Given the description of an element on the screen output the (x, y) to click on. 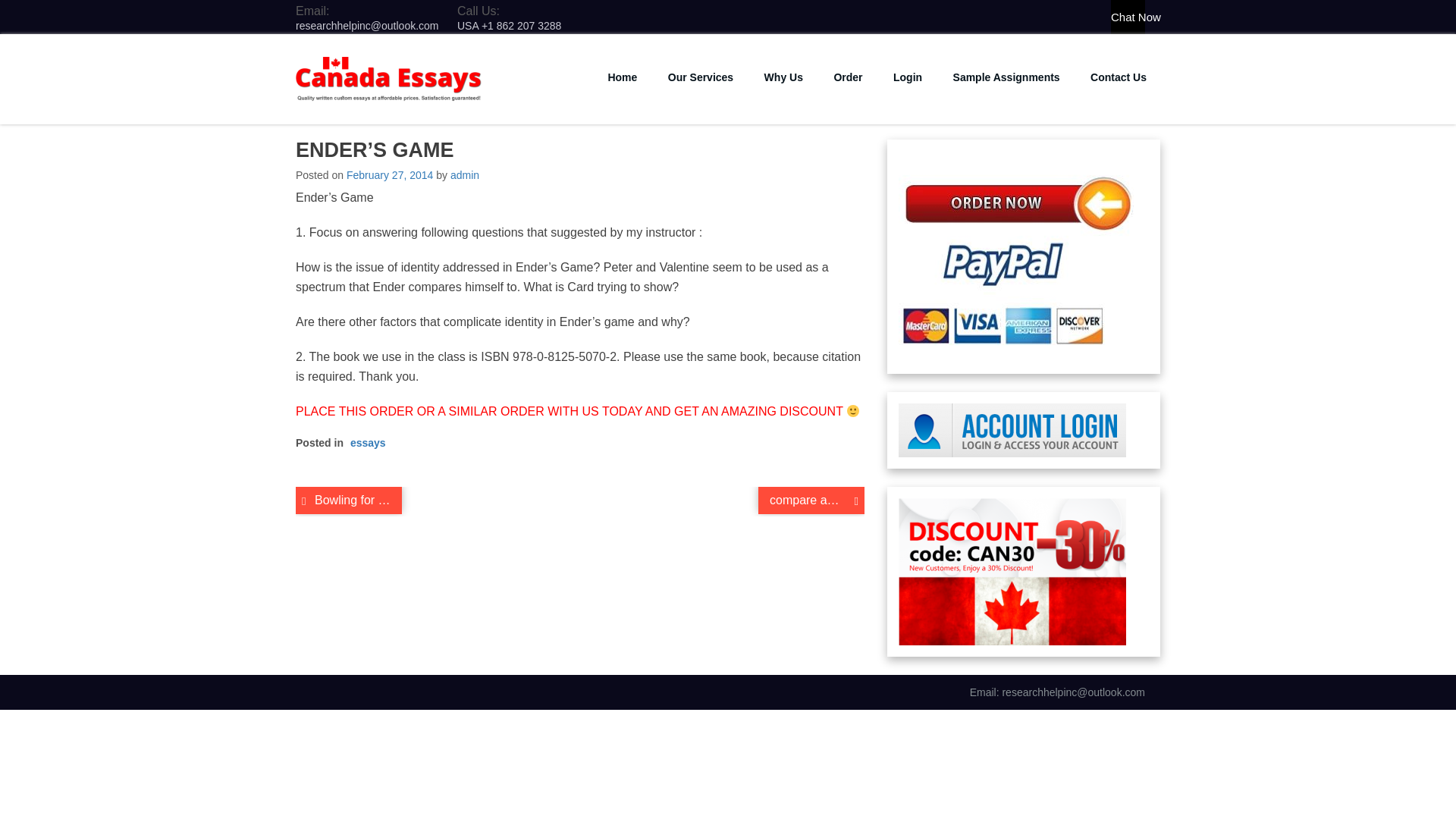
Solutions by our experts (1006, 77)
February 27, 2014 (389, 174)
admin (464, 174)
Canada Essays (379, 112)
Chat Now (1127, 17)
Contact Us (1118, 77)
Sample Assignments (1006, 77)
Our Services (699, 77)
Bowling for Columbine (348, 500)
essays (367, 442)
